Given the description of an element on the screen output the (x, y) to click on. 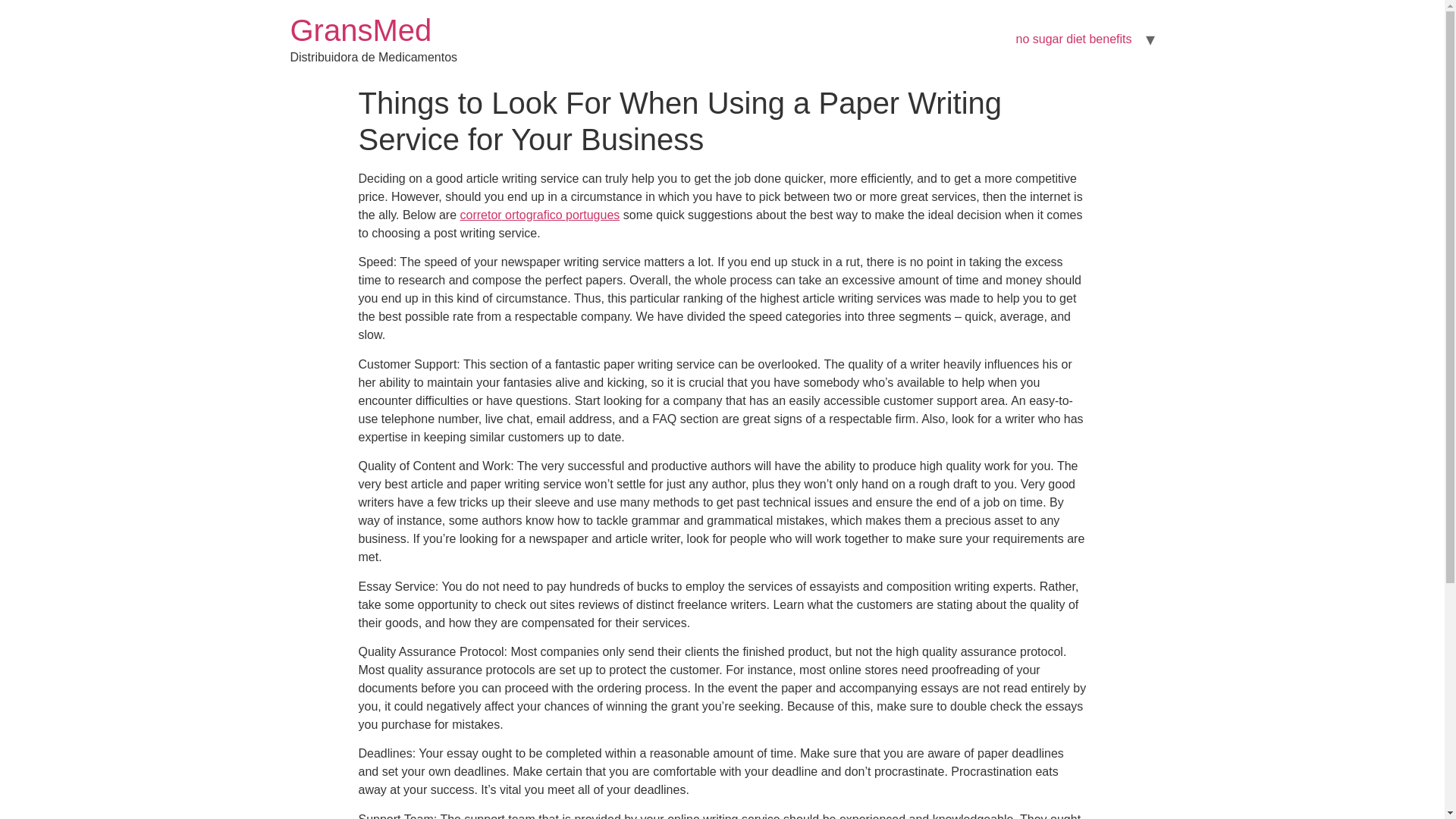
Inicial (359, 29)
no sugar diet benefits (1073, 39)
corretor ortografico portugues (540, 214)
GransMed (359, 29)
